Given the description of an element on the screen output the (x, y) to click on. 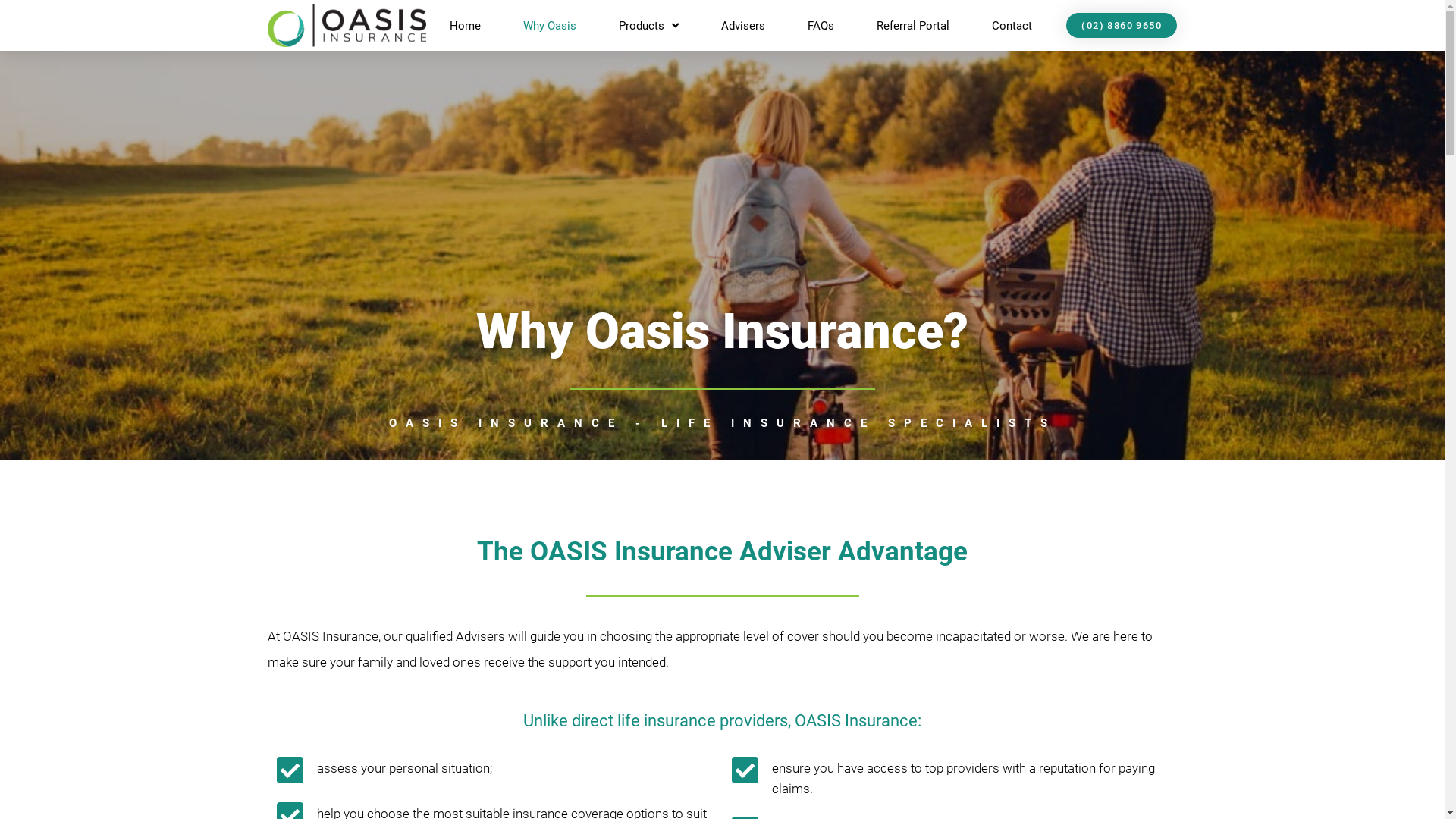
Contact Element type: text (1011, 25)
Advisers Element type: text (742, 25)
Referral Portal Element type: text (912, 25)
Home Element type: text (464, 25)
Why Oasis Element type: text (549, 25)
FAQs Element type: text (820, 25)
(02) 8860 9650 Element type: text (1121, 24)
Products Element type: text (648, 25)
